Given the description of an element on the screen output the (x, y) to click on. 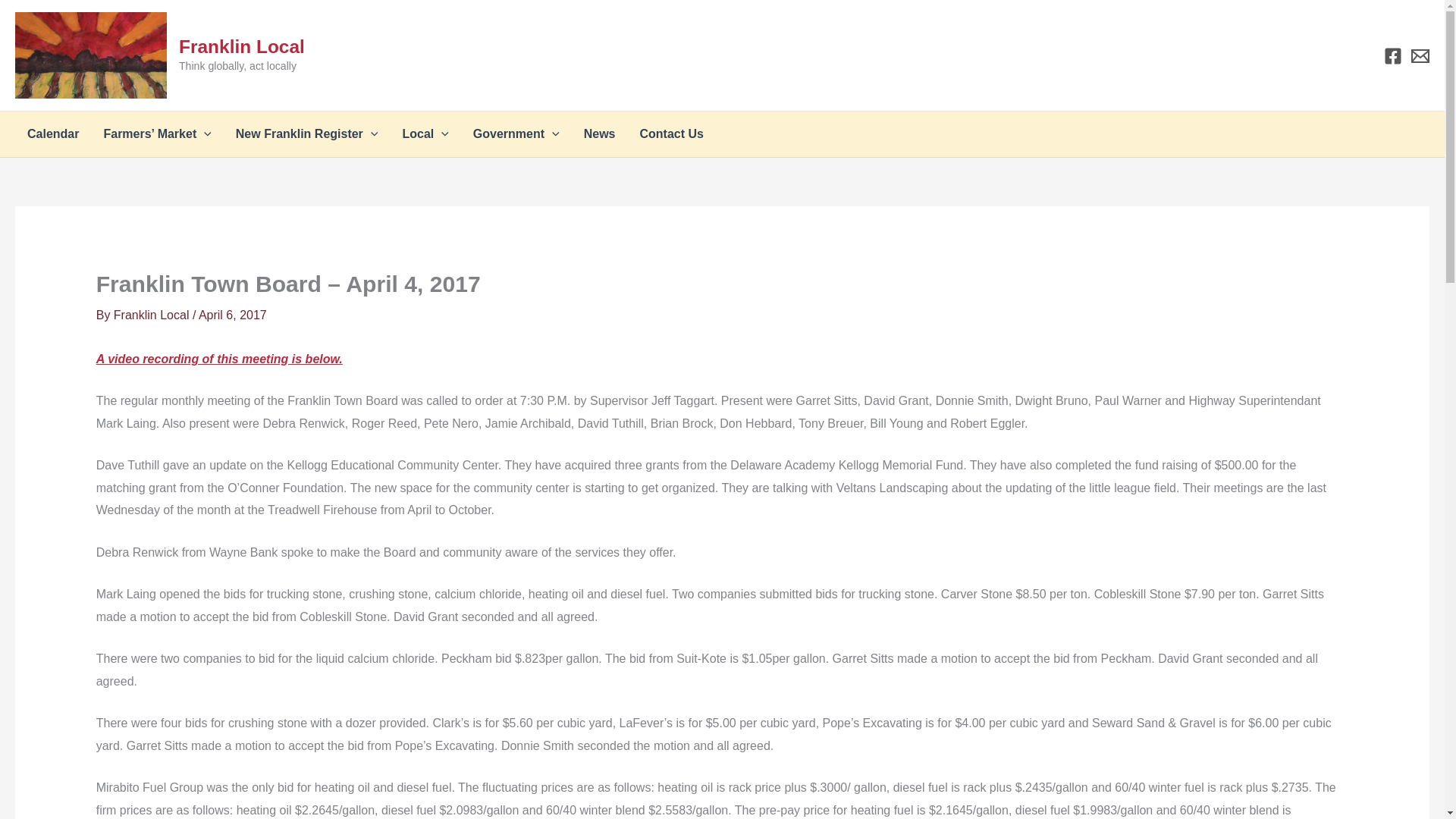
Government (516, 134)
Local (425, 134)
View all posts by Franklin Local (152, 314)
New Franklin Register (307, 134)
News (599, 134)
Calendar (52, 134)
Contact Us (670, 134)
Franklin Local (241, 46)
